Given the description of an element on the screen output the (x, y) to click on. 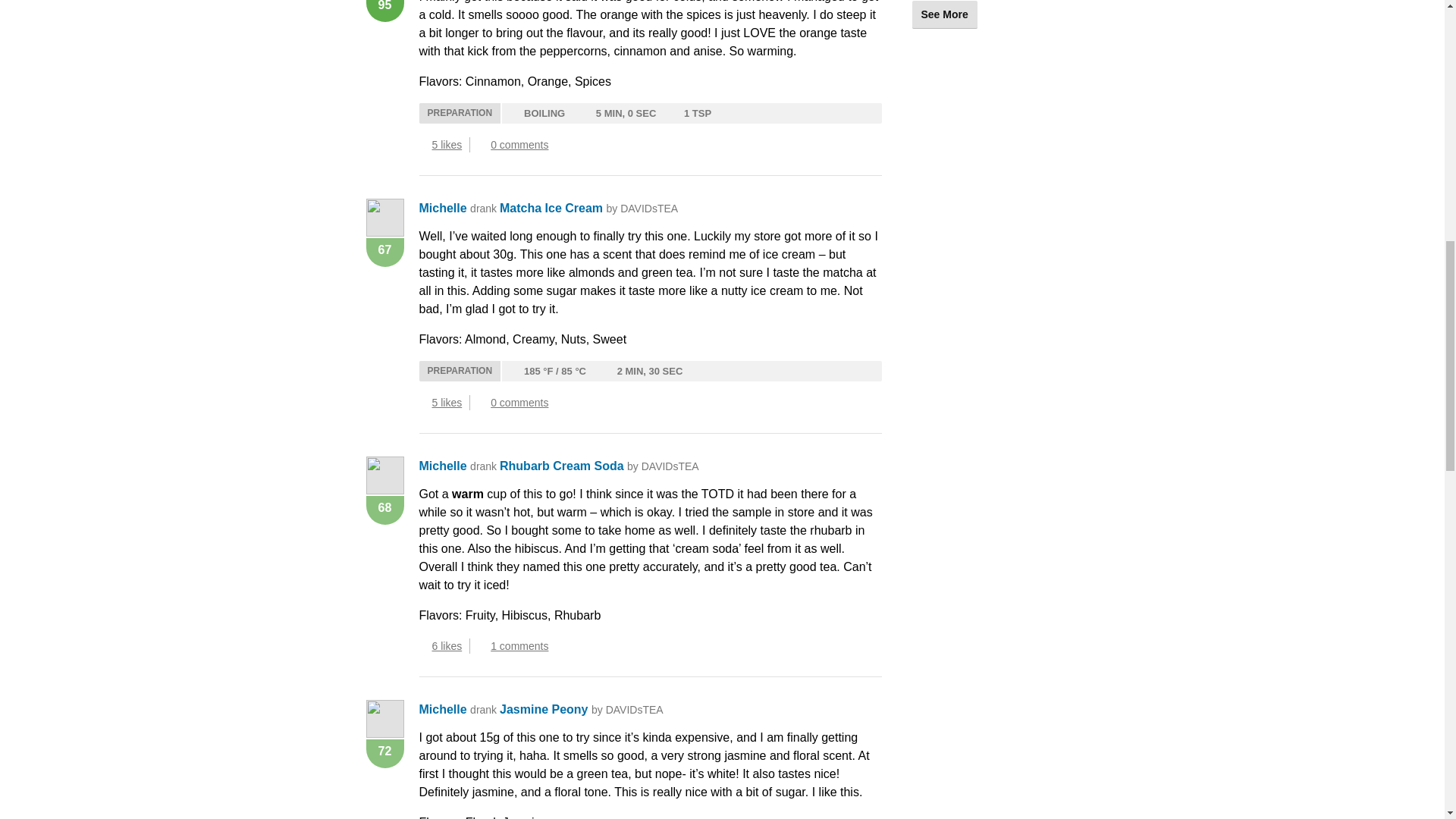
Like This (423, 402)
Like This (423, 144)
Like This (423, 646)
